Given the description of an element on the screen output the (x, y) to click on. 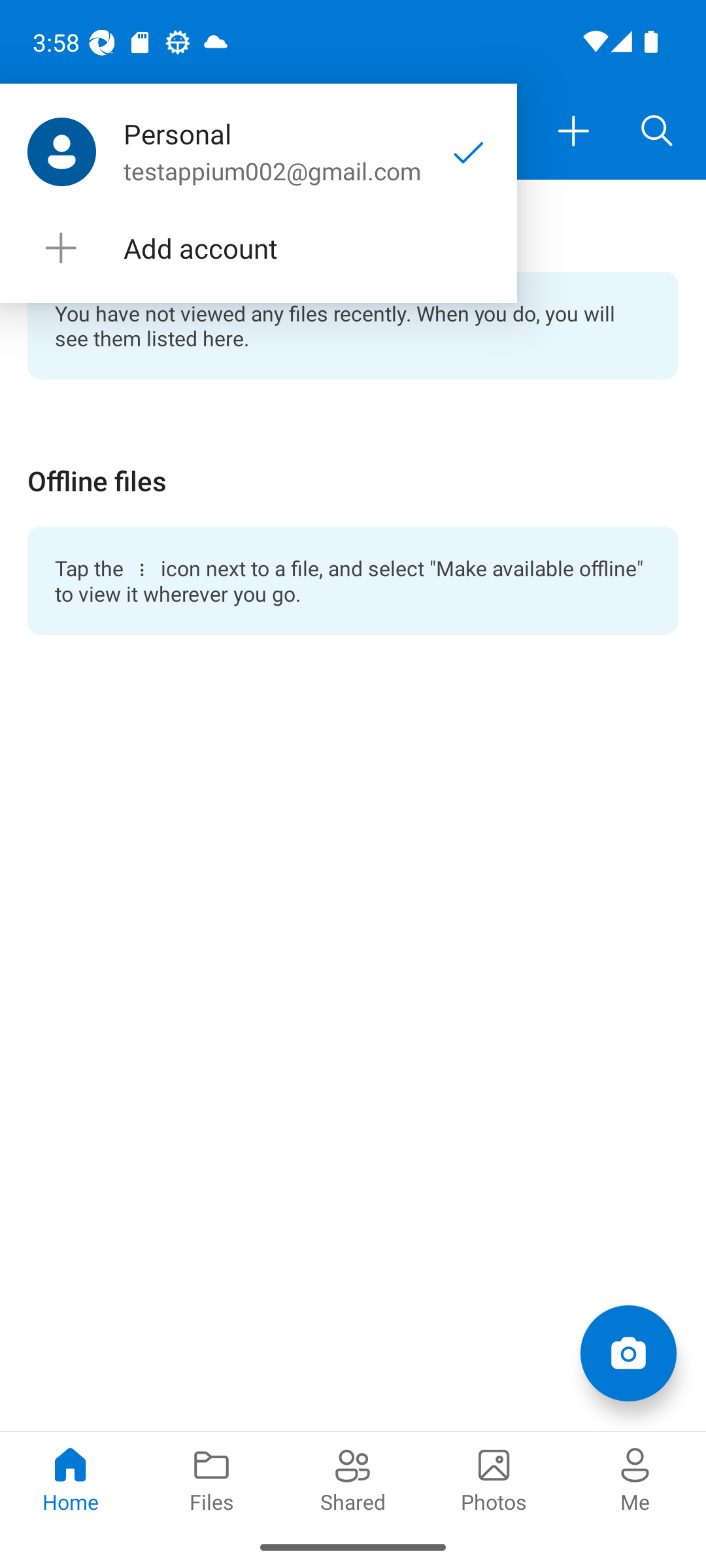
Personal testappium002@gmail.com Checked (258, 151)
Checked (468, 151)
Add account button Add account (258, 248)
